Given the description of an element on the screen output the (x, y) to click on. 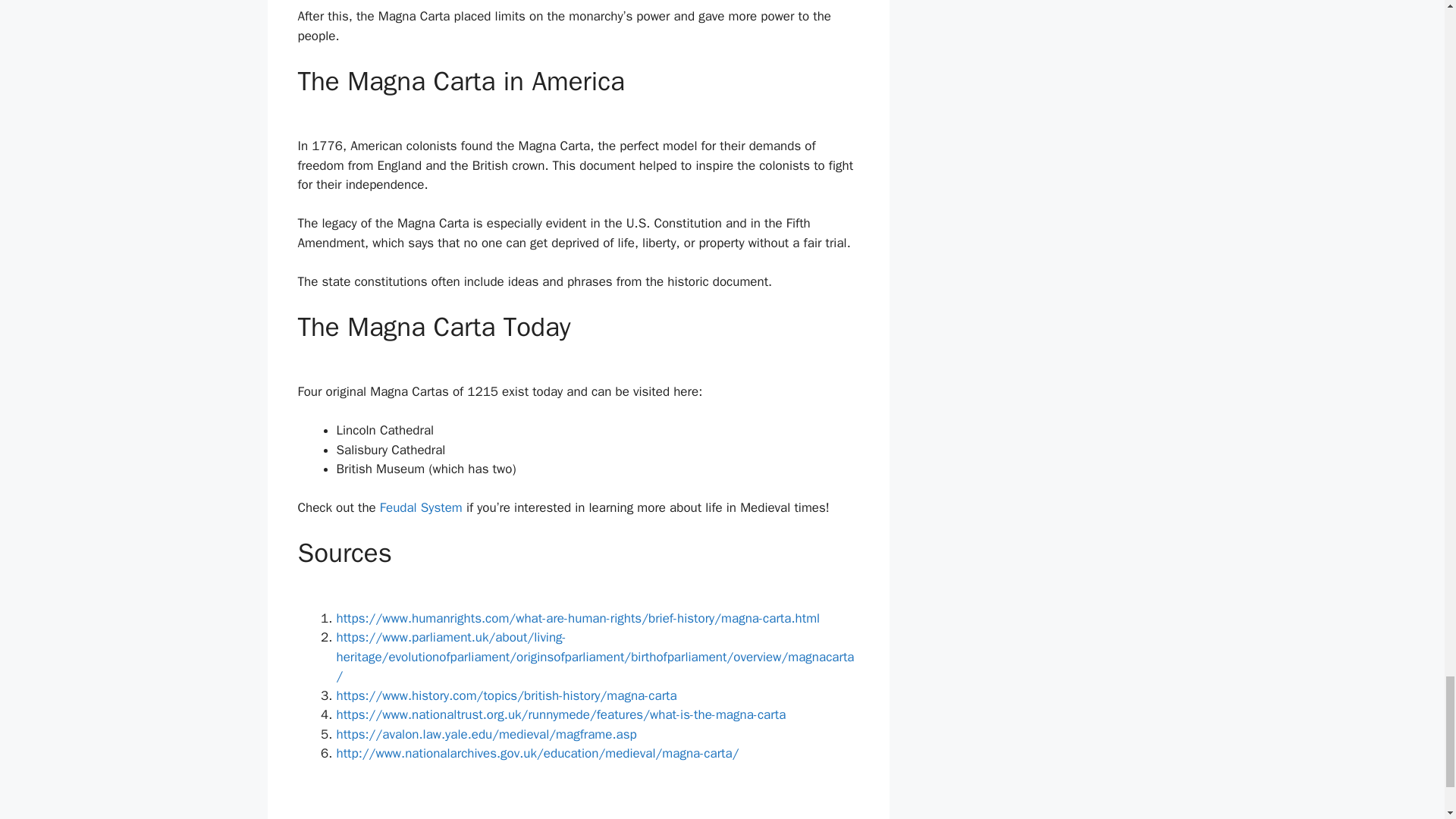
Feudal System (421, 507)
